Given the description of an element on the screen output the (x, y) to click on. 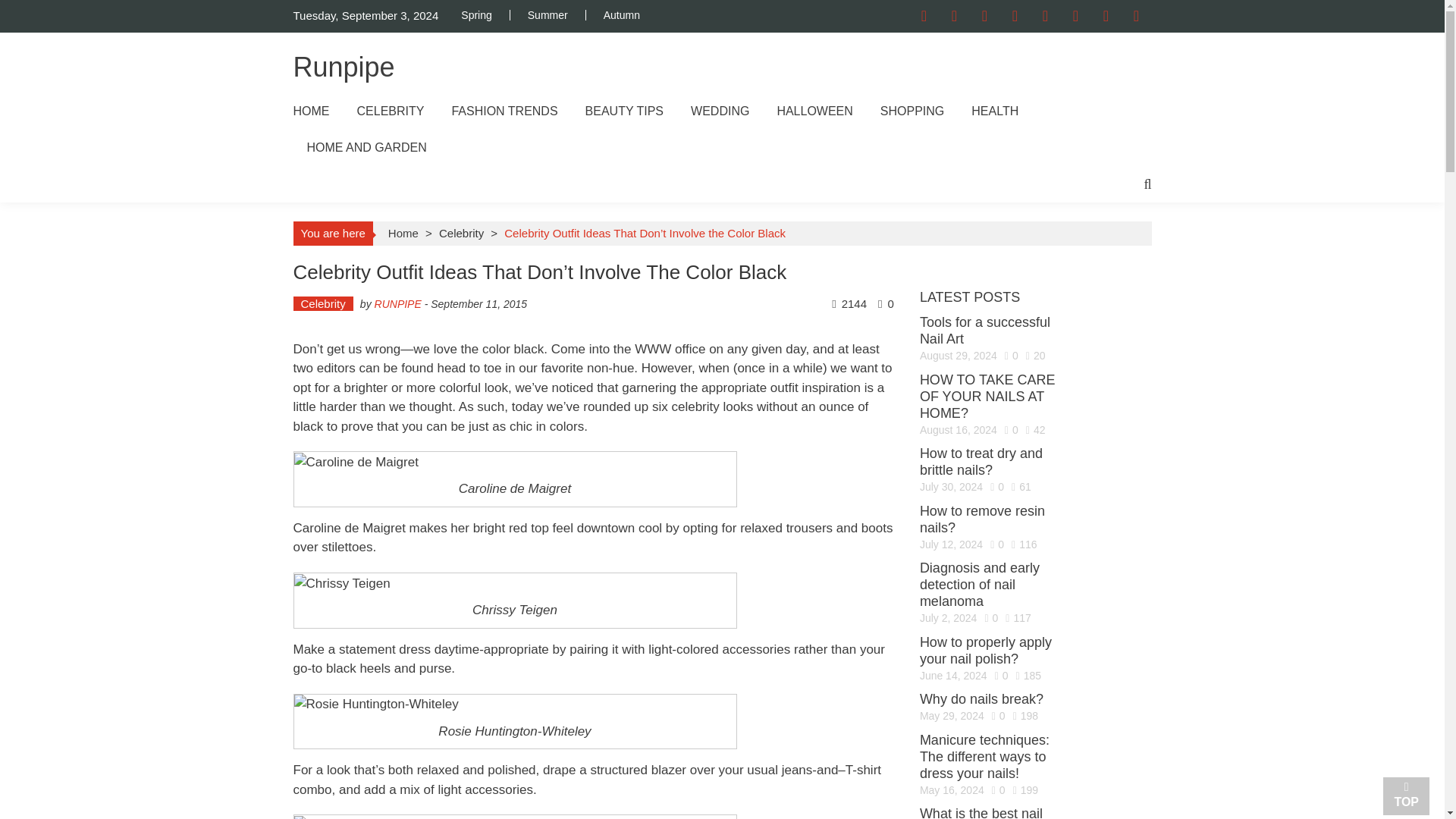
WEDDING (719, 110)
HOME AND GARDEN (365, 146)
HOME (310, 110)
Skip to content (37, 8)
HALLOWEEN (813, 110)
Autumn (621, 14)
HEALTH (994, 110)
Follow us on Pinterest (1013, 15)
Follow us on Flickr (1074, 15)
Follow us on Facebook (923, 15)
